Given the description of an element on the screen output the (x, y) to click on. 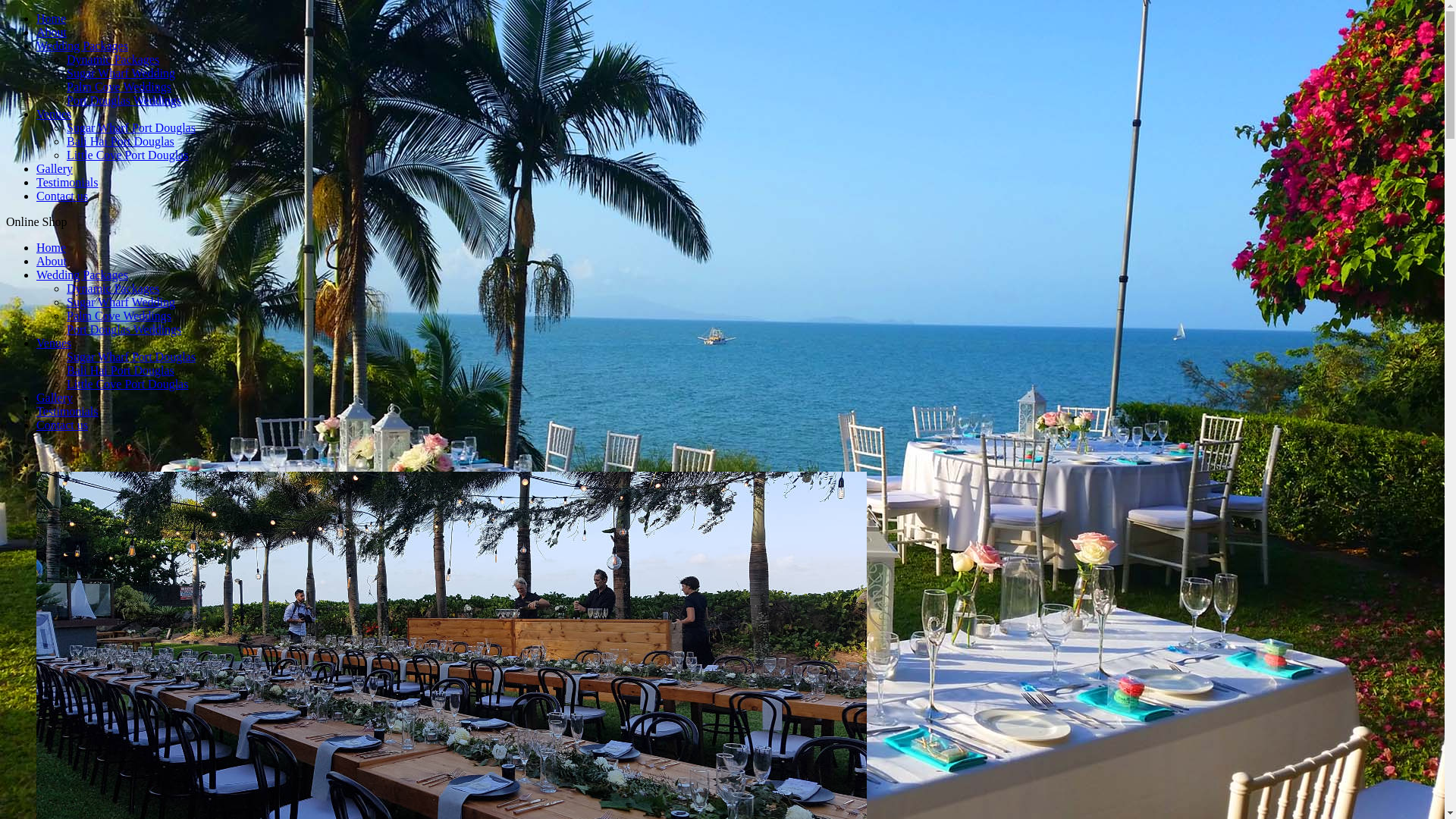
Dynamic Packages Element type: text (112, 59)
Sugar Wharf Port Douglas Element type: text (130, 356)
Sugar Wharf Wedding Element type: text (120, 72)
Home Element type: text (50, 18)
Bali Hai Port Douglas Element type: text (120, 370)
Palm Cove Weddings Element type: text (118, 315)
Testimonials Element type: text (67, 181)
Dynamic Packages Element type: text (112, 288)
Venues Element type: text (53, 113)
Little Cove Port Douglas Element type: text (127, 383)
Gallery Element type: text (54, 397)
Wedding Packages Element type: text (82, 45)
Contact us Element type: text (61, 195)
Home Element type: text (50, 247)
Port Douglas Weddings Element type: text (123, 329)
Wedding Packages Element type: text (82, 274)
Contact us Element type: text (61, 424)
Palm Cove Weddings Element type: text (118, 86)
About Element type: text (51, 260)
Port Douglas Weddings Element type: text (123, 100)
Testimonials Element type: text (67, 410)
Little Cove Port Douglas Element type: text (127, 154)
Sugar Wharf Port Douglas Element type: text (130, 127)
Venues Element type: text (53, 342)
Gallery Element type: text (54, 168)
Bali Hai Port Douglas Element type: text (120, 140)
Sugar Wharf Wedding Element type: text (120, 301)
About Element type: text (51, 31)
